Given the description of an element on the screen output the (x, y) to click on. 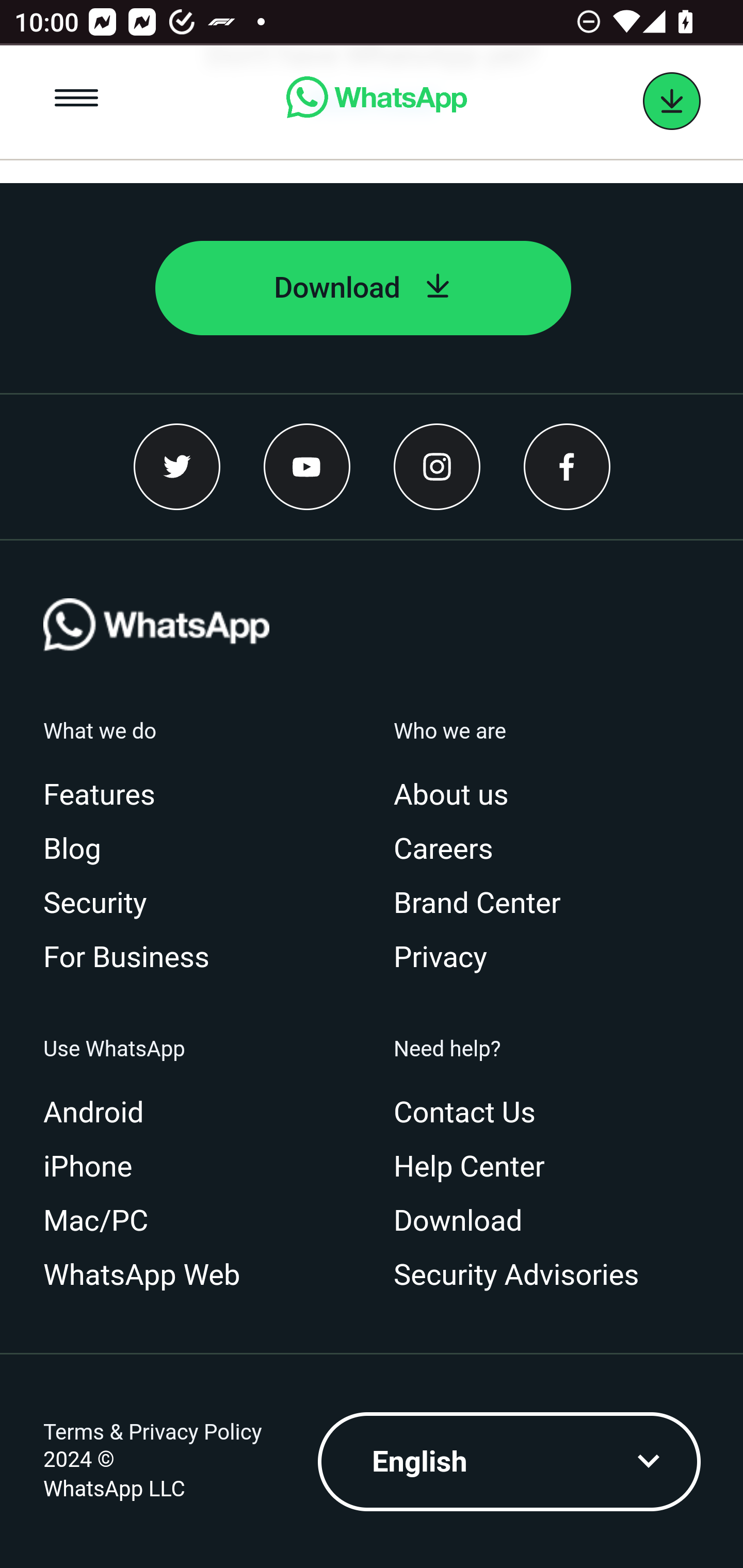
Open mobile menu (77, 101)
details?id=com (672, 101)
WhatsApp Main Page (376, 101)
Download (363, 289)
Twitter (177, 467)
Youtube (307, 467)
Instagram (436, 467)
Facebook (566, 467)
WhatsApp Main Logo (157, 658)
Features (107, 796)
About us (458, 796)
Blog (79, 851)
Careers (450, 851)
Security (102, 904)
Brand Center (484, 904)
For Business (134, 959)
Privacy (447, 959)
Android (101, 1114)
Contact Us (471, 1114)
iPhone (95, 1168)
Help Center (476, 1168)
Mac/PC (103, 1222)
Download (465, 1222)
WhatsApp Web (149, 1276)
Security Advisories (524, 1276)
English (510, 1463)
Terms & Privacy Policy (153, 1433)
